Given the description of an element on the screen output the (x, y) to click on. 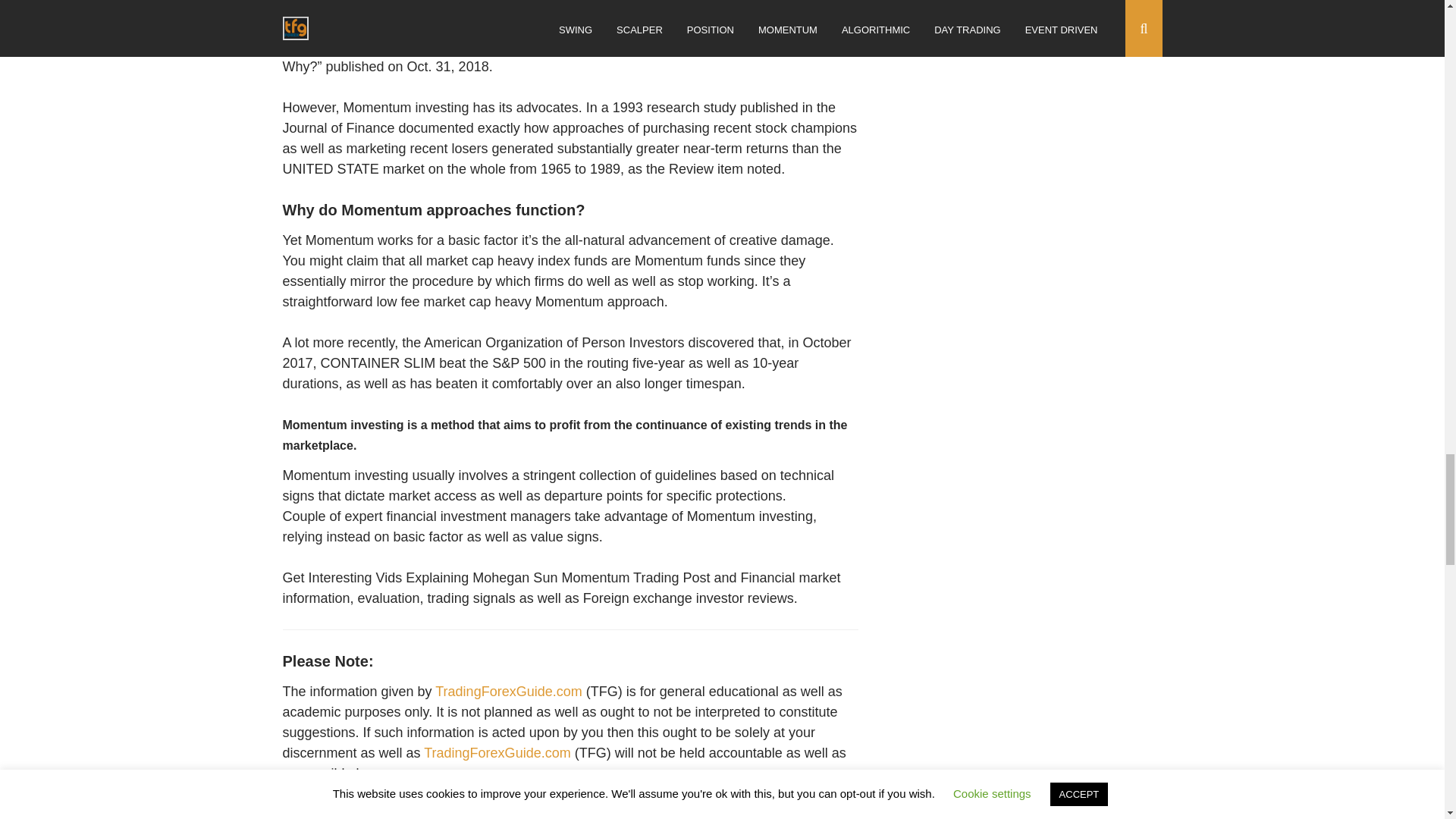
TradingForexGuide.com (507, 691)
TradingForexGuide.com (496, 752)
